Given the description of an element on the screen output the (x, y) to click on. 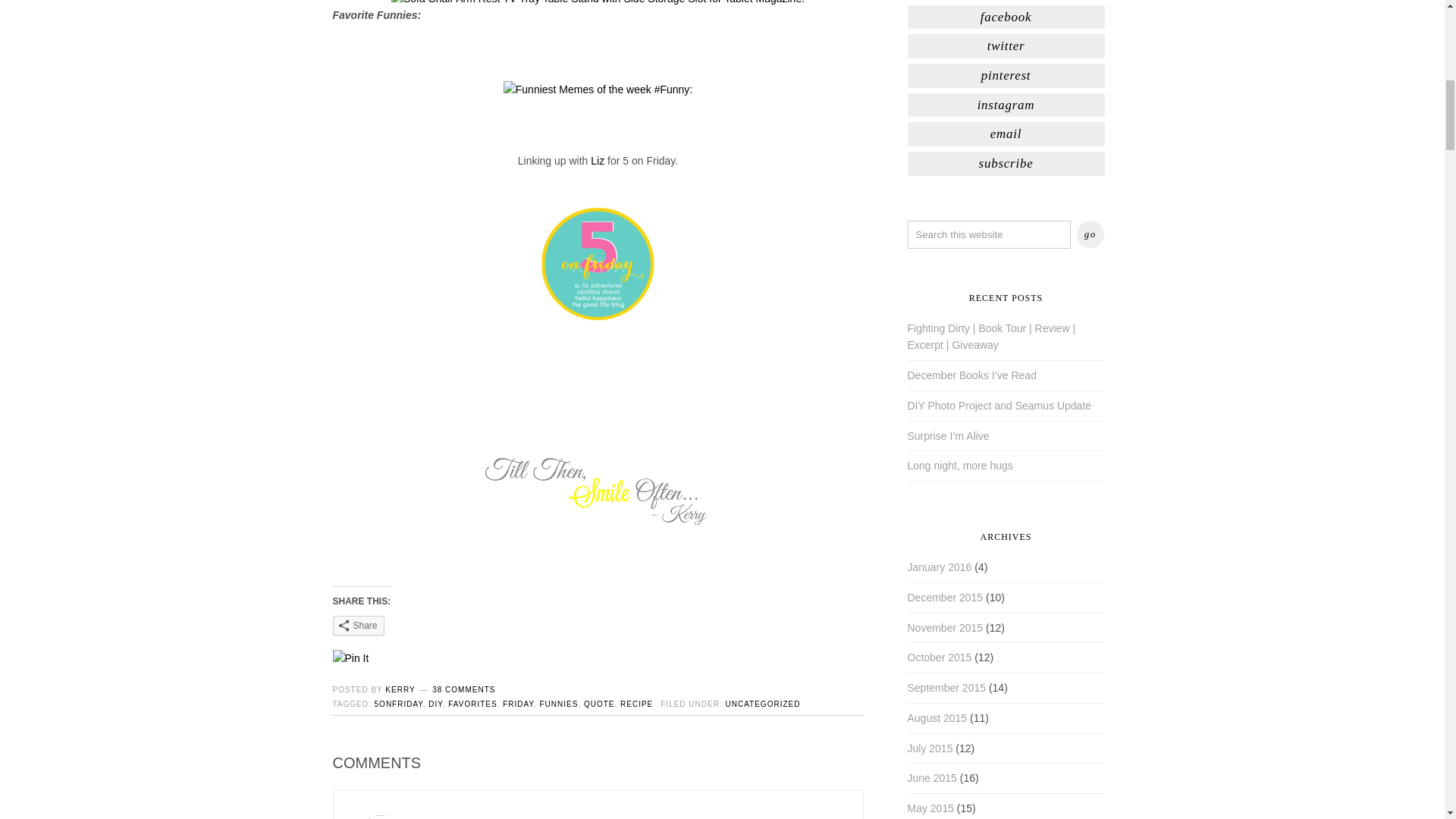
Liz (599, 160)
5ONFRIDAY (398, 704)
UNCATEGORIZED (762, 704)
KERRY (399, 689)
DIY (435, 704)
GO (1090, 234)
38 COMMENTS (463, 689)
Pin It (349, 658)
Share (357, 625)
GO (1090, 234)
